Given the description of an element on the screen output the (x, y) to click on. 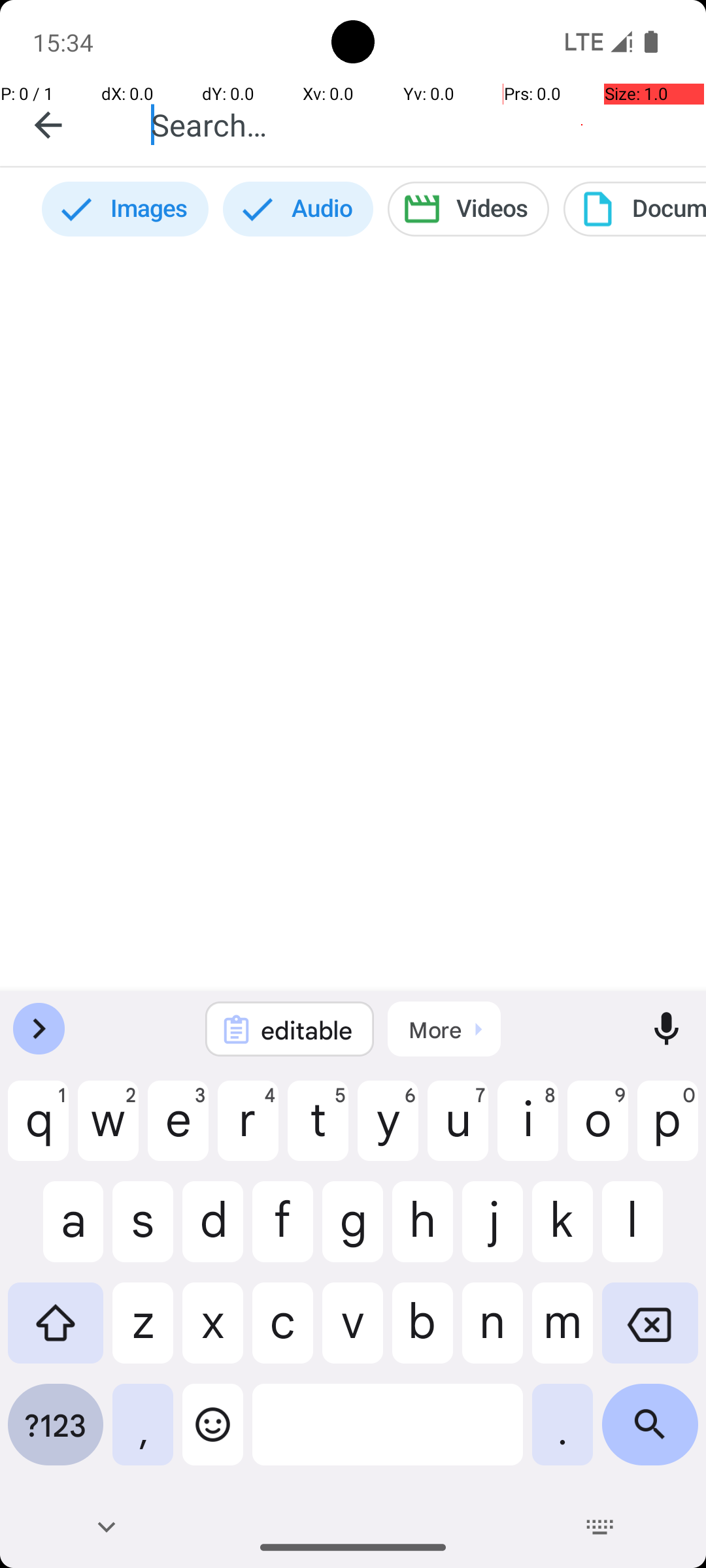
Click to open Clipboard Element type: android.view.ViewGroup (443, 1028)
editable Element type: android.widget.TextView (306, 1029)
